Given the description of an element on the screen output the (x, y) to click on. 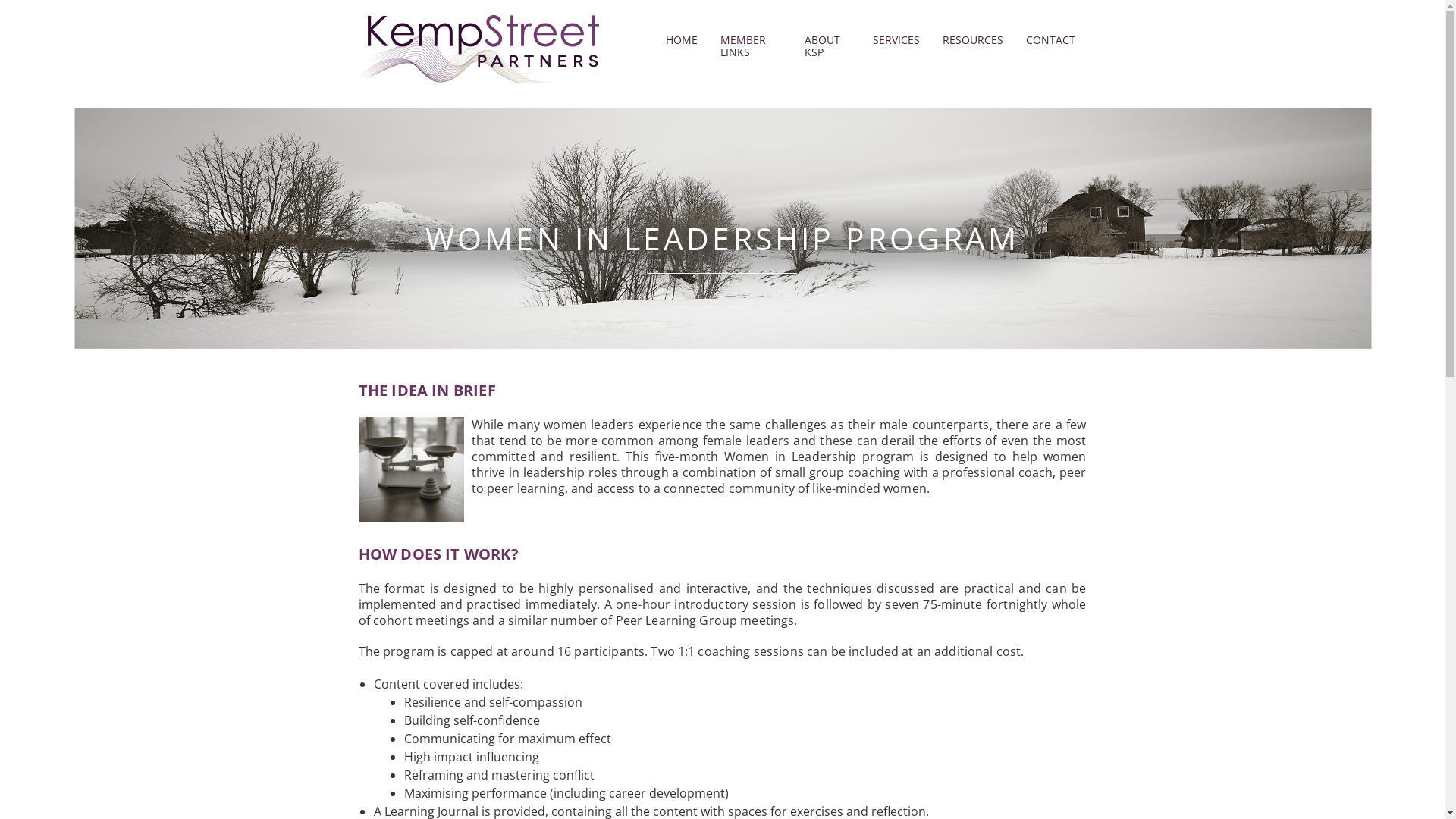
ABOUT KSP Element type: text (826, 46)
Kemp Street Partners Element type: text (478, 49)
HOME Element type: text (680, 40)
SERVICES Element type: text (896, 40)
MEMBER LINKS Element type: text (750, 46)
CONTACT Element type: text (1050, 40)
RESOURCES Element type: text (972, 40)
